Given the description of an element on the screen output the (x, y) to click on. 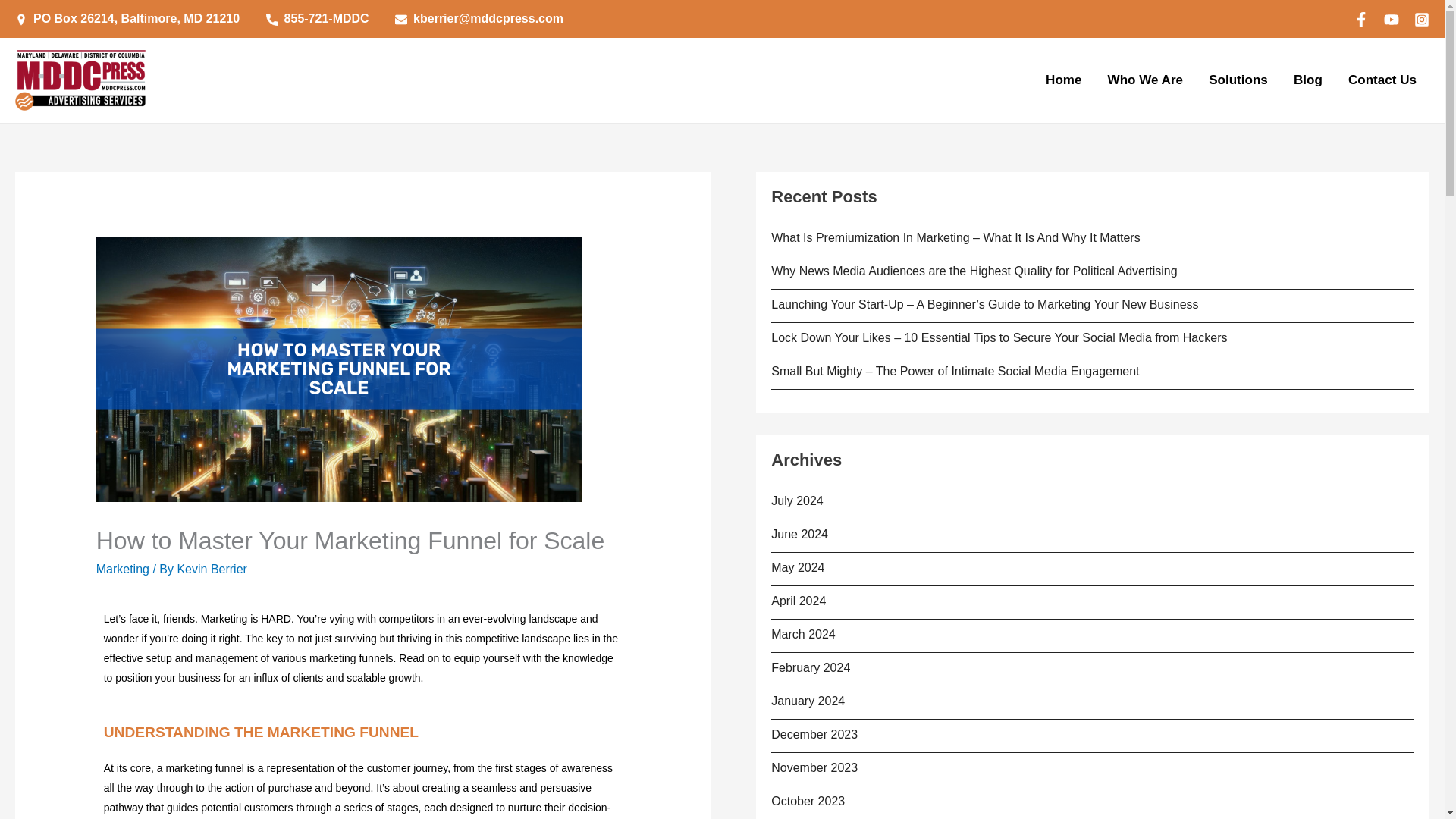
Contact Us (1382, 80)
Kevin Berrier (211, 568)
January 2024 (807, 700)
October 2023 (807, 800)
Who We Are (1145, 80)
April 2024 (798, 600)
February 2024 (810, 667)
December 2023 (814, 734)
May 2024 (797, 567)
March 2024 (803, 634)
Blog (1308, 80)
View all posts by Kevin Berrier (211, 568)
Marketing (122, 568)
Home (1063, 80)
Solutions (1238, 80)
